Given the description of an element on the screen output the (x, y) to click on. 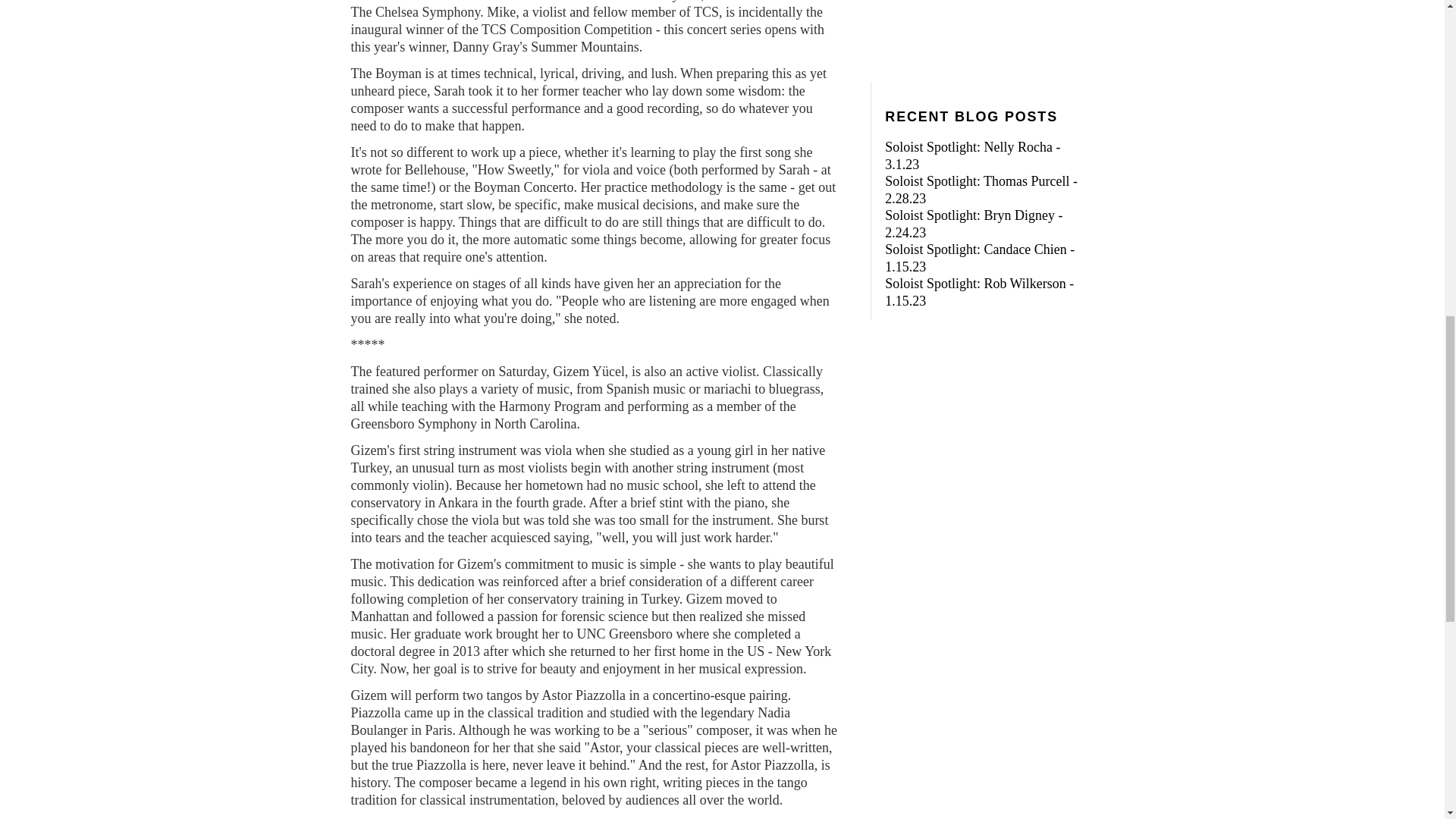
Soloist Spotlight: Bryn Digney (969, 215)
Soloist Spotlight: Thomas Purcell (976, 181)
Soloist Spotlight: Nelly Rocha (968, 146)
Soloist Spotlight: Rob Wilkerson (975, 283)
Soloist Spotlight: Candace Chien (976, 249)
